Given the description of an element on the screen output the (x, y) to click on. 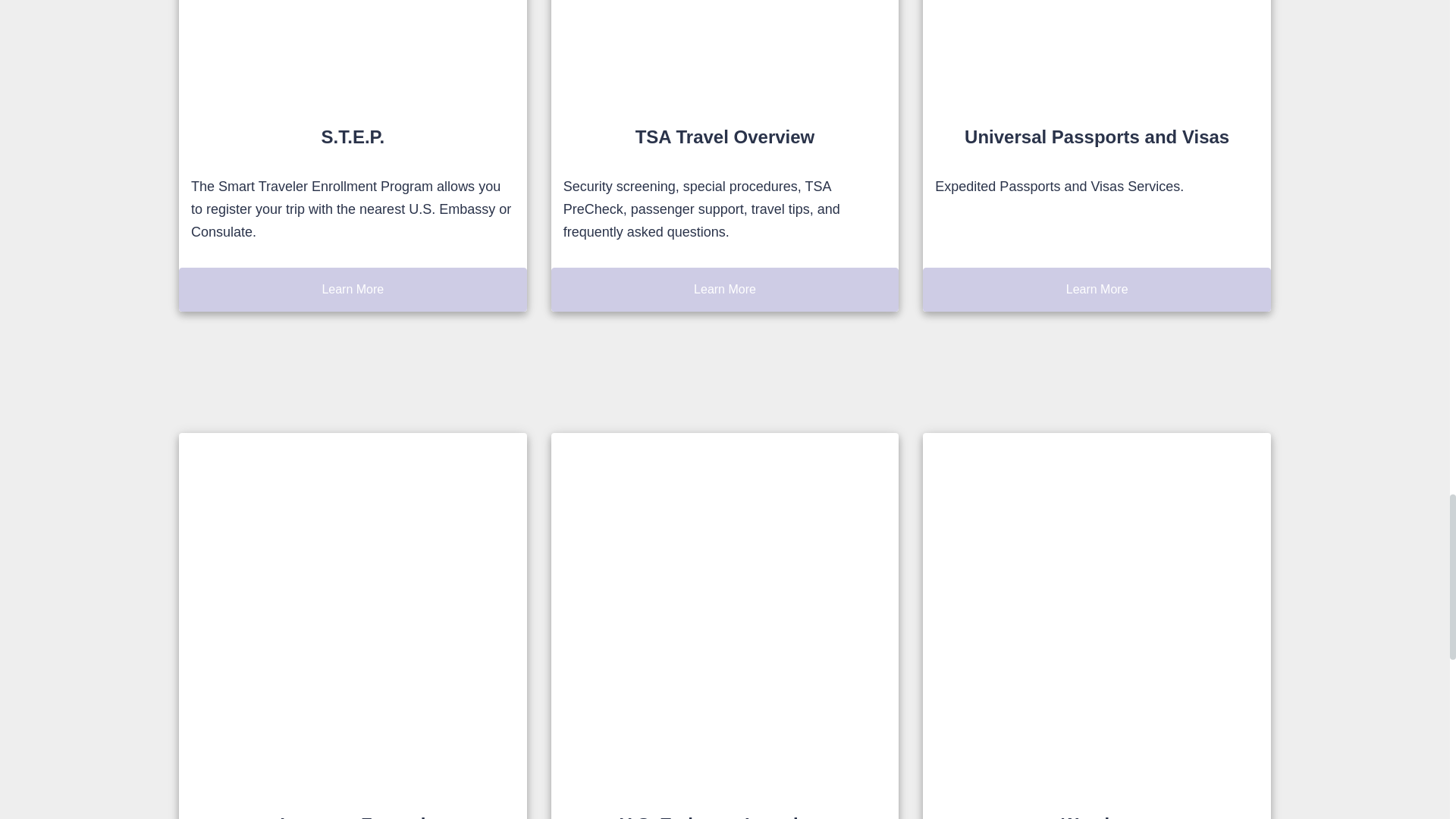
Learn More (1097, 289)
Learn More (353, 289)
Learn More (725, 289)
